Given the description of an element on the screen output the (x, y) to click on. 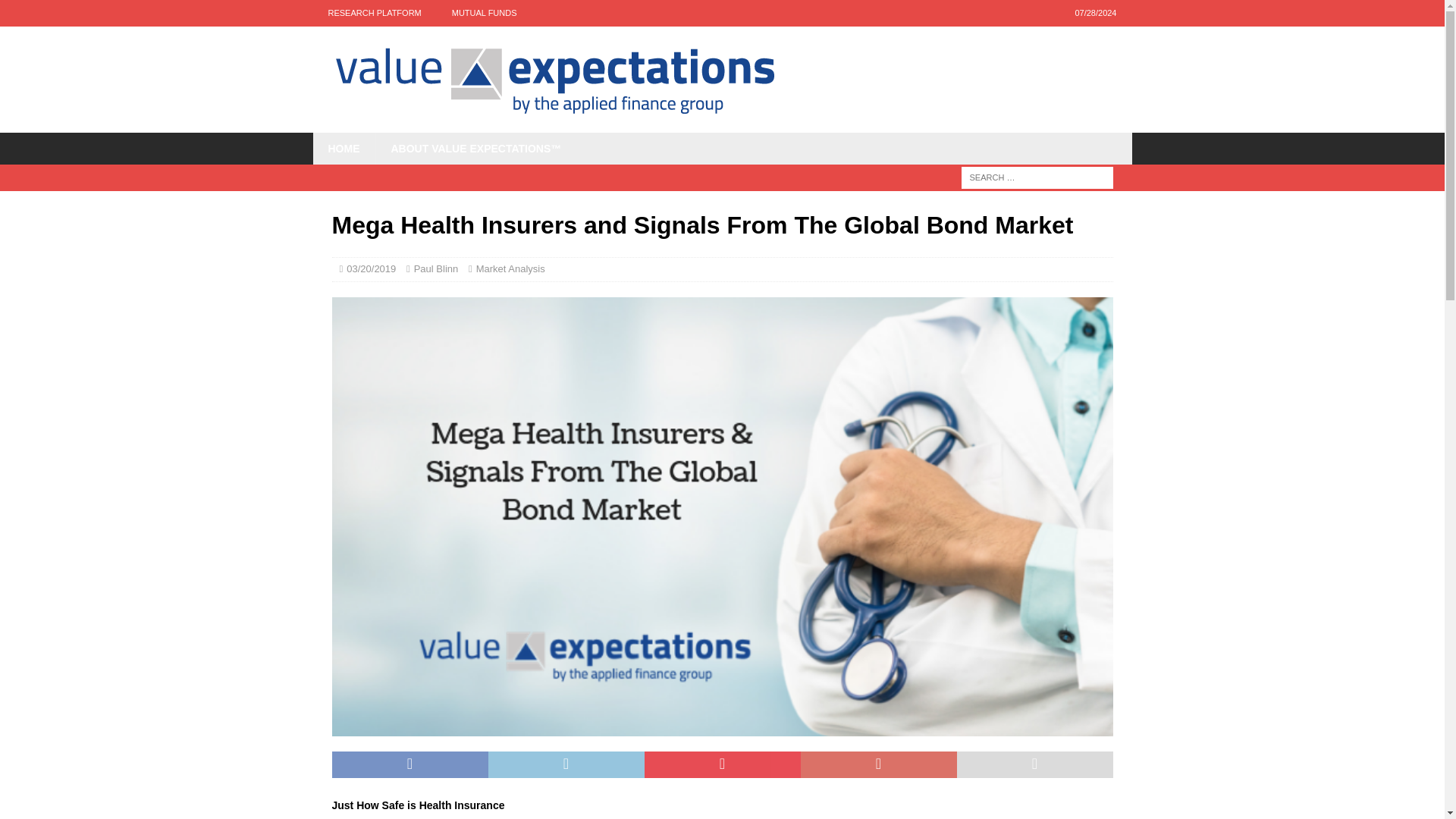
Search (56, 11)
Market Analysis (510, 268)
HOME (343, 148)
Paul Blinn (435, 268)
MUTUAL FUNDS (484, 13)
RESEARCH PLATFORM (374, 13)
